Given the description of an element on the screen output the (x, y) to click on. 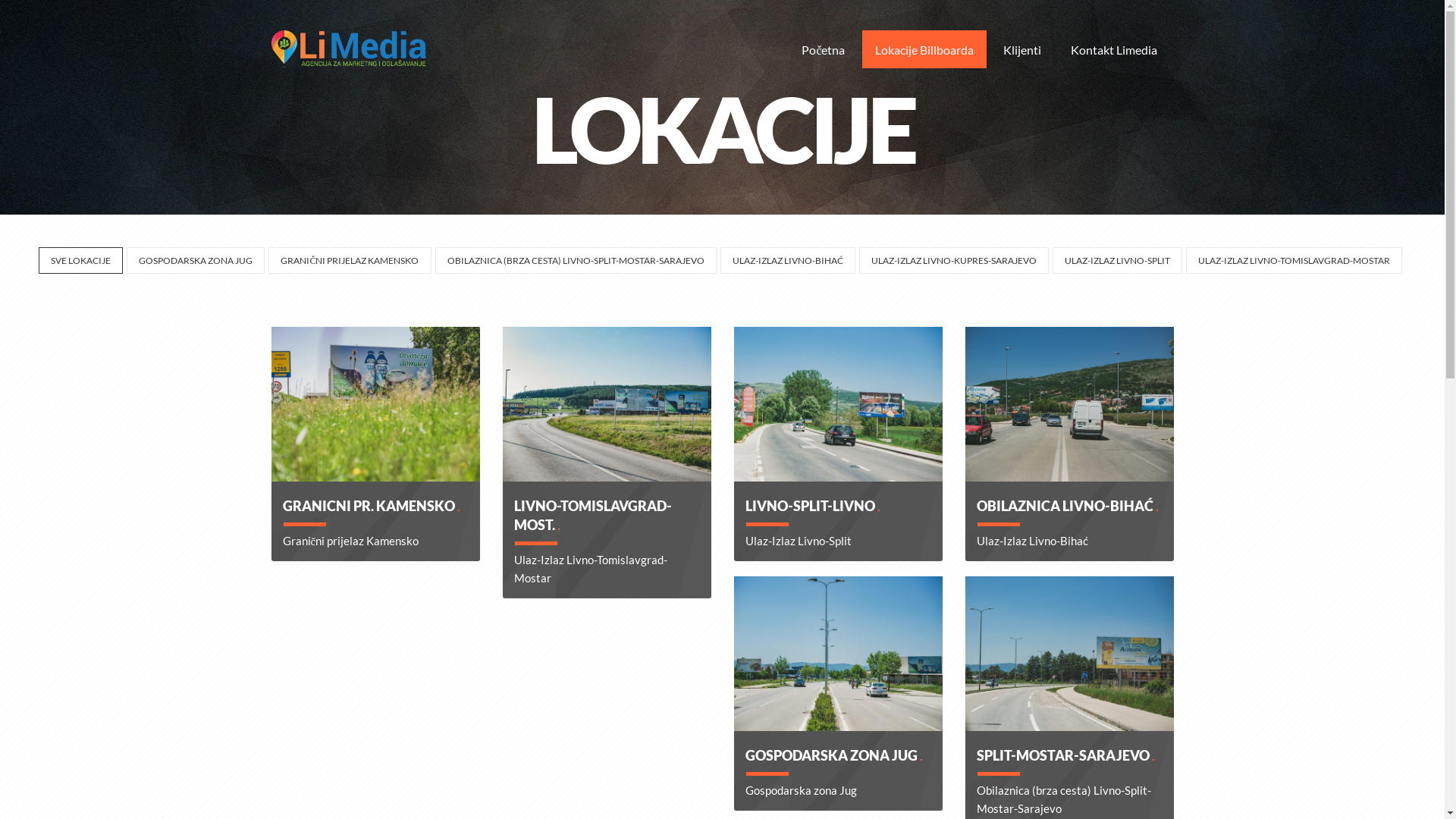
LIVNO-TOMISLAVGRAD-MOST. . Element type: text (592, 515)
Kontakt Limedia Element type: text (1113, 49)
Limedia d.o.o. Livno Element type: hover (348, 49)
SVE LOKACIJE Element type: text (80, 260)
OBILAZNICA (BRZA CESTA) LIVNO-SPLIT-MOSTAR-SARAJEVO Element type: text (575, 260)
GRANICNI PR. KAMENSKO . Element type: text (370, 505)
LIVNO-SPLIT-LIVNO . Element type: text (811, 505)
ULAZ-IZLAZ LIVNO-KUPRES-SARAJEVO Element type: text (953, 260)
Klijenti Element type: text (1022, 49)
ULAZ-IZLAZ LIVNO-TOMISLAVGRAD-MOSTAR Element type: text (1294, 260)
SPLIT-MOSTAR-SARAJEVO . Element type: text (1065, 754)
Lokacije Billboarda Element type: text (923, 49)
ULAZ-IZLAZ LIVNO-SPLIT Element type: text (1117, 260)
GOSPODARSKA ZONA JUG . Element type: text (833, 754)
GOSPODARSKA ZONA JUG Element type: text (195, 260)
